Given the description of an element on the screen output the (x, y) to click on. 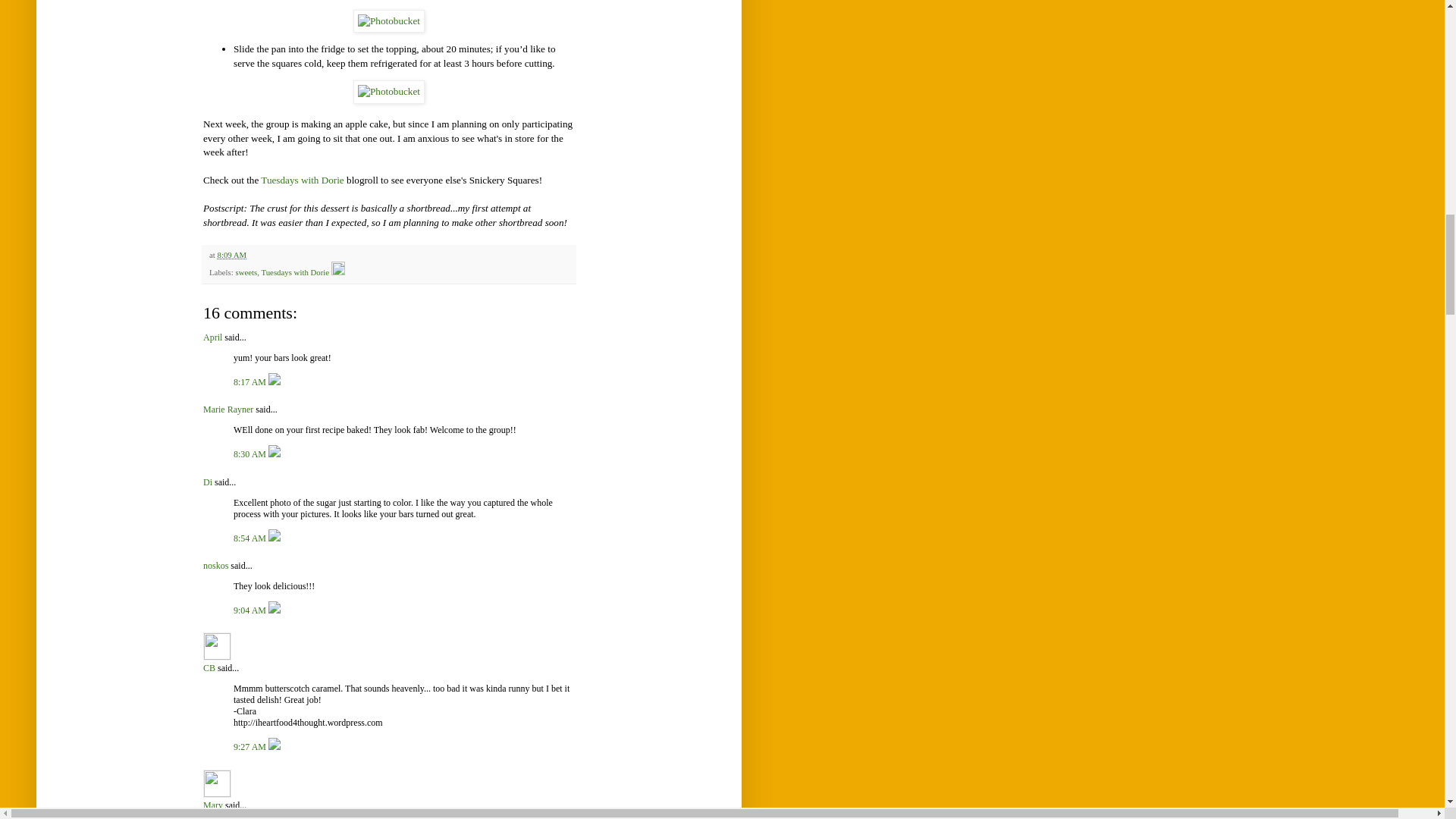
8:30 AM (249, 453)
Edit Post (338, 271)
comment permalink (249, 610)
8:54 AM (249, 538)
Marie Rayner (228, 409)
CB (217, 646)
8:17 AM (249, 381)
Tuesdays with Dorie (301, 179)
8:09 AM (231, 254)
comment permalink (249, 381)
Tuesdays with Dorie (294, 271)
Delete Comment (274, 610)
comment permalink (249, 538)
Delete Comment (274, 381)
Delete Comment (274, 538)
